Given the description of an element on the screen output the (x, y) to click on. 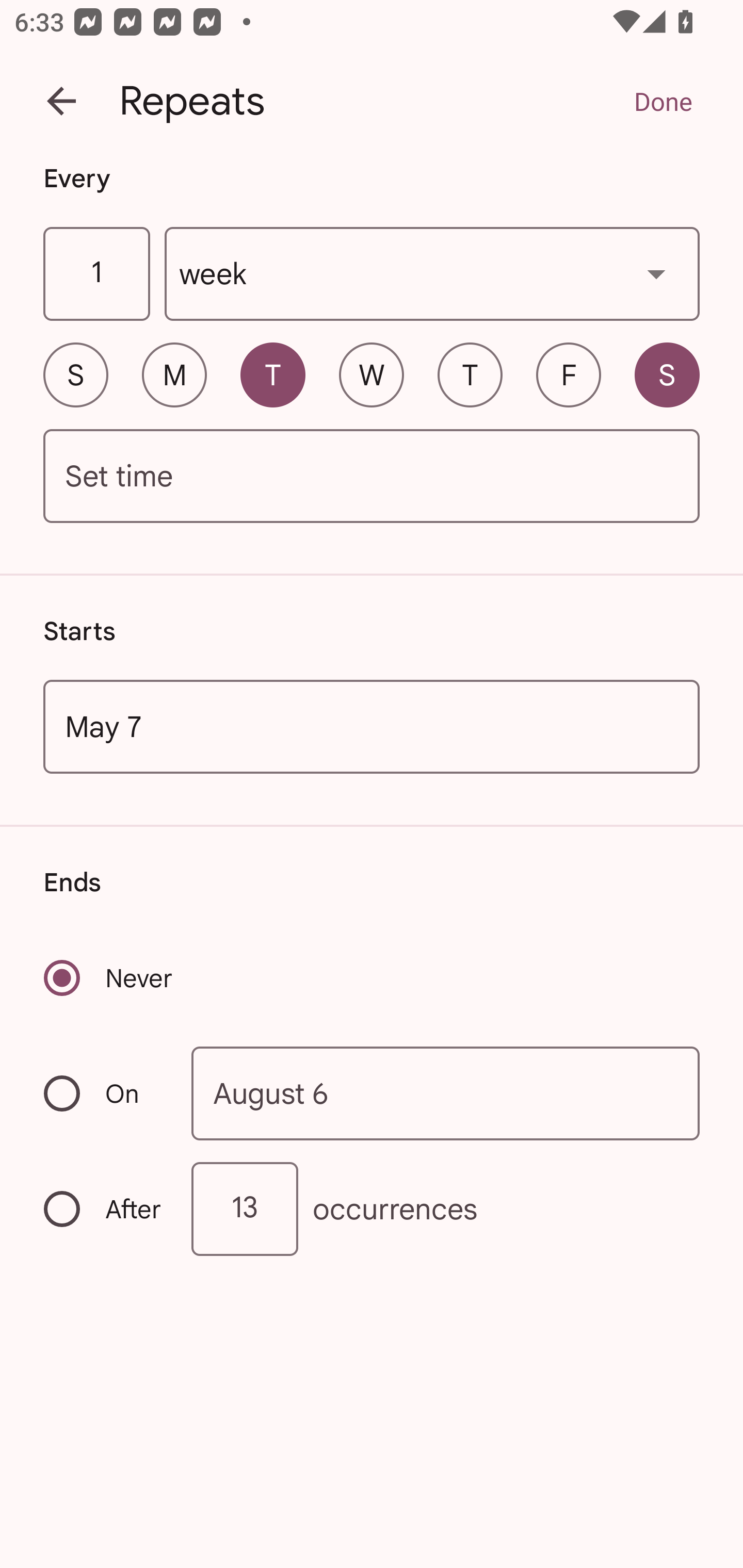
Back (61, 101)
Done (663, 101)
1 (96, 274)
week (431, 274)
Show dropdown menu (655, 273)
S Sunday (75, 374)
M Monday (173, 374)
T Tuesday, selected (272, 374)
W Wednesday (371, 374)
T Thursday (469, 374)
F Friday (568, 374)
S Saturday, selected (666, 374)
Set time (371, 476)
May 7 (371, 726)
Never Recurrence never ends (109, 978)
August 6 (445, 1092)
On Recurrence ends on a specific date (104, 1093)
13 (244, 1208)
